Given the description of an element on the screen output the (x, y) to click on. 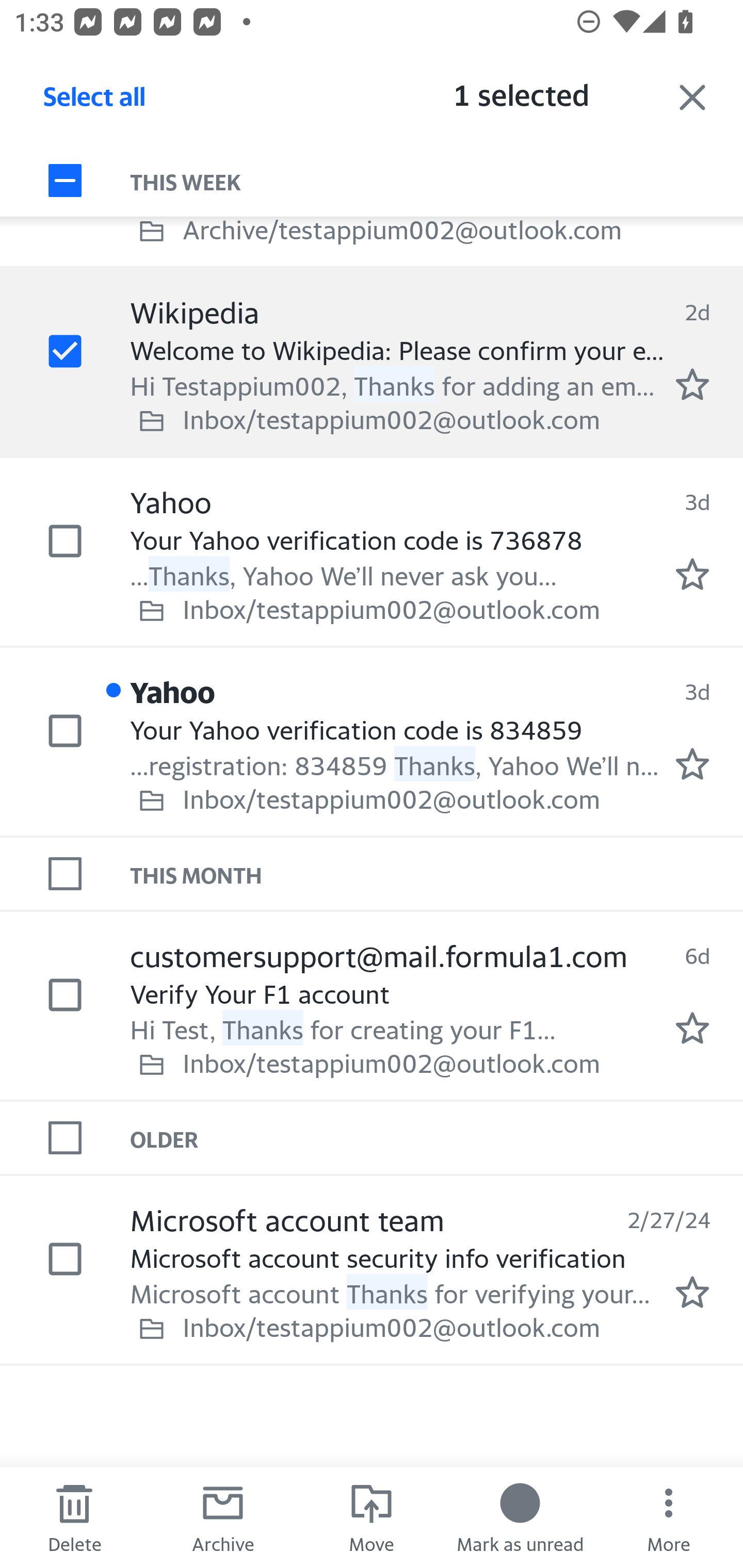
Exit selection mode (692, 97)
Select all (94, 101)
Mark as starred. (692, 384)
Mark as starred. (692, 574)
Mark as starred. (692, 764)
THIS MONTH (436, 873)
Mark as starred. (692, 1027)
OLDER (436, 1137)
Mark as starred. (692, 1291)
Delete (74, 1517)
Archive (222, 1517)
Move (371, 1517)
Mark as unread (519, 1517)
More (668, 1517)
